Given the description of an element on the screen output the (x, y) to click on. 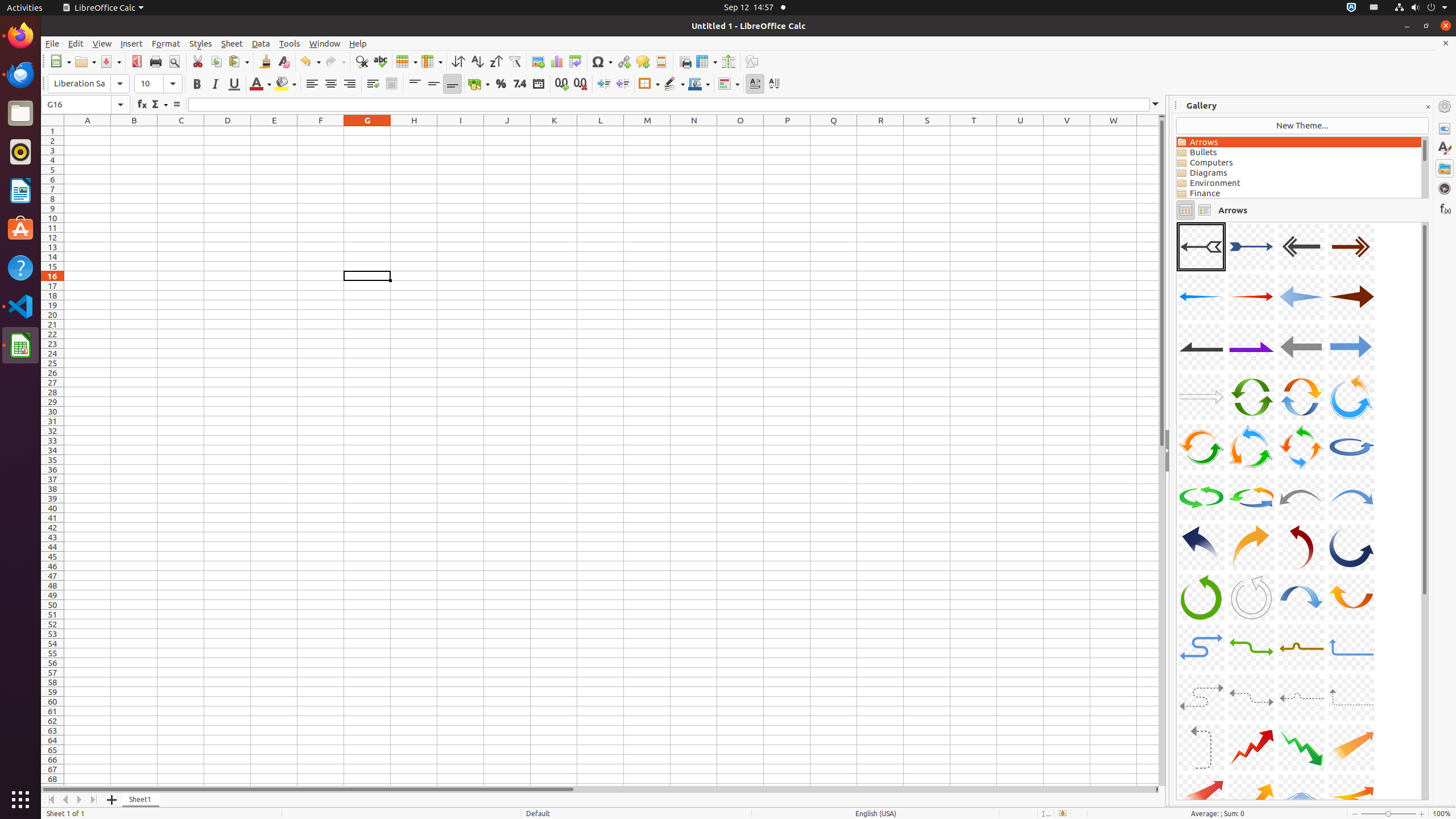
Name Box Element type: combo-box (85, 104)
LibreOffice Calc Element type: push-button (20, 344)
Draw Functions Element type: toggle-button (751, 61)
View Element type: menu (102, 43)
Move Left Element type: push-button (65, 799)
